Given the description of an element on the screen output the (x, y) to click on. 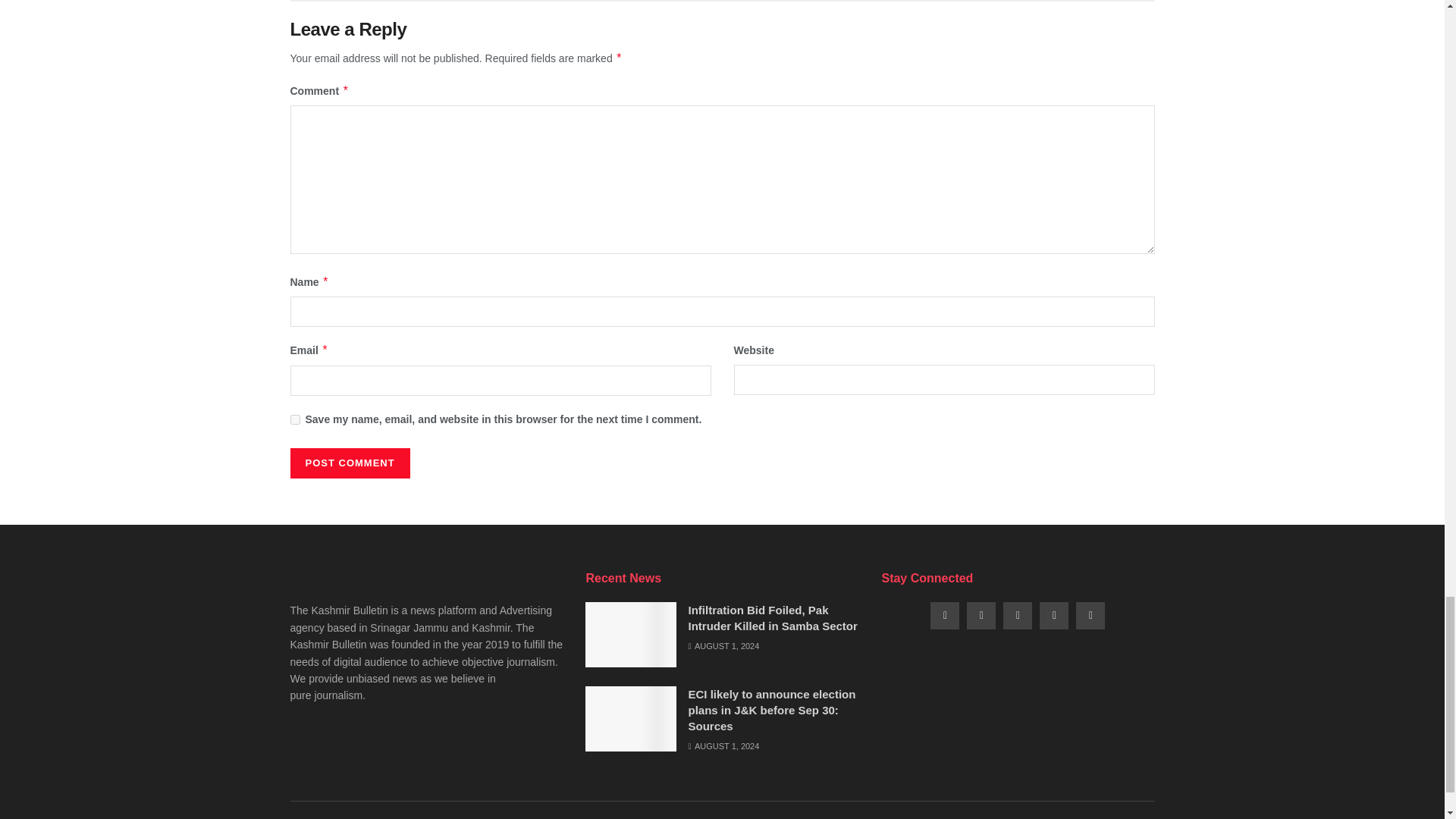
Post Comment (349, 462)
yes (294, 419)
